Given the description of an element on the screen output the (x, y) to click on. 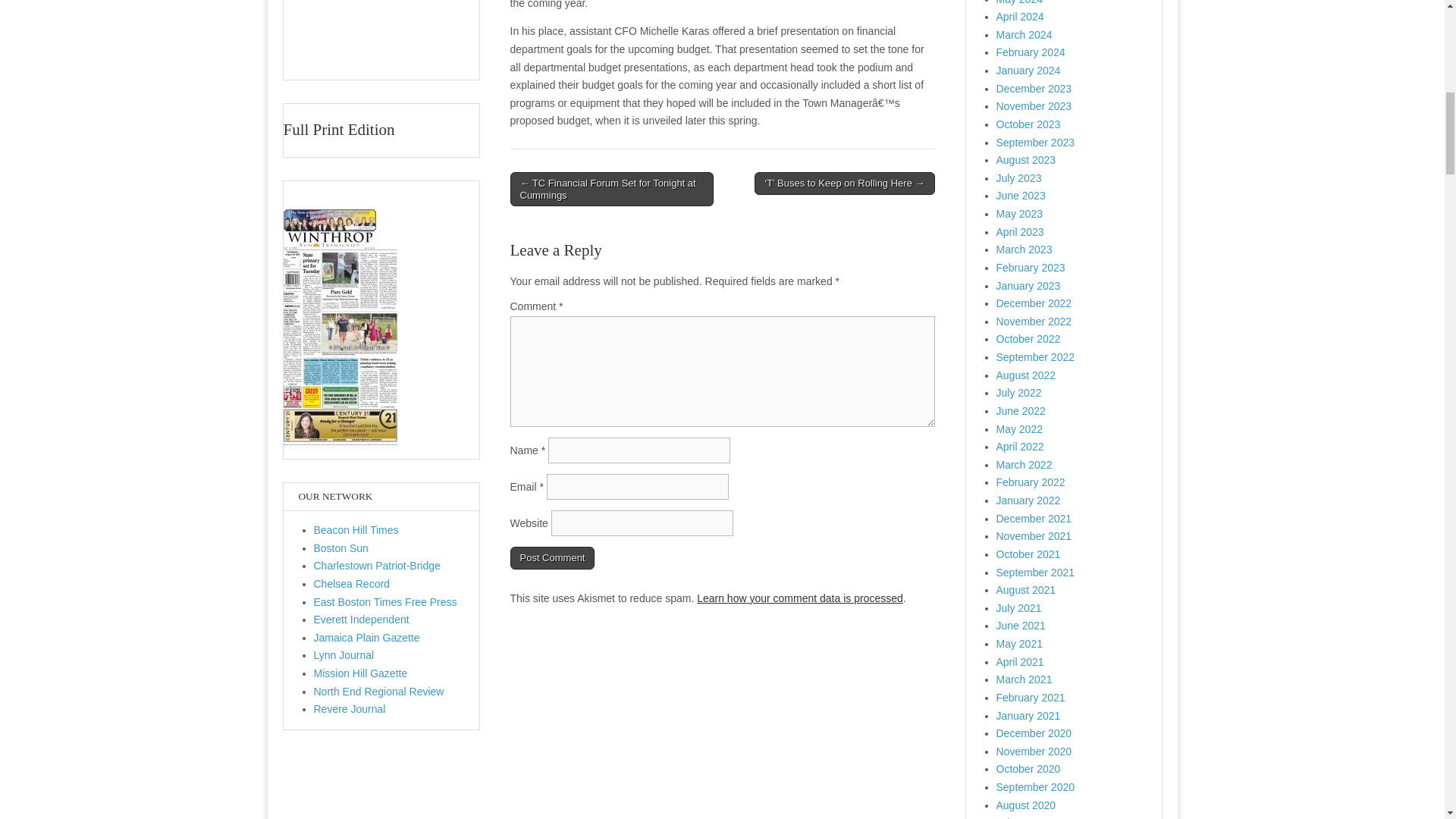
Everett Independent (361, 619)
Boston Sun (341, 548)
Learn how your comment data is processed (799, 598)
Jamaica Plain Gazette (367, 637)
Post Comment (551, 558)
Post Comment (551, 558)
Beacon Hill Times (356, 530)
North End Regional Review (379, 691)
Charlestown Patriot-Bridge (377, 565)
Chelsea Record (352, 583)
